Given the description of an element on the screen output the (x, y) to click on. 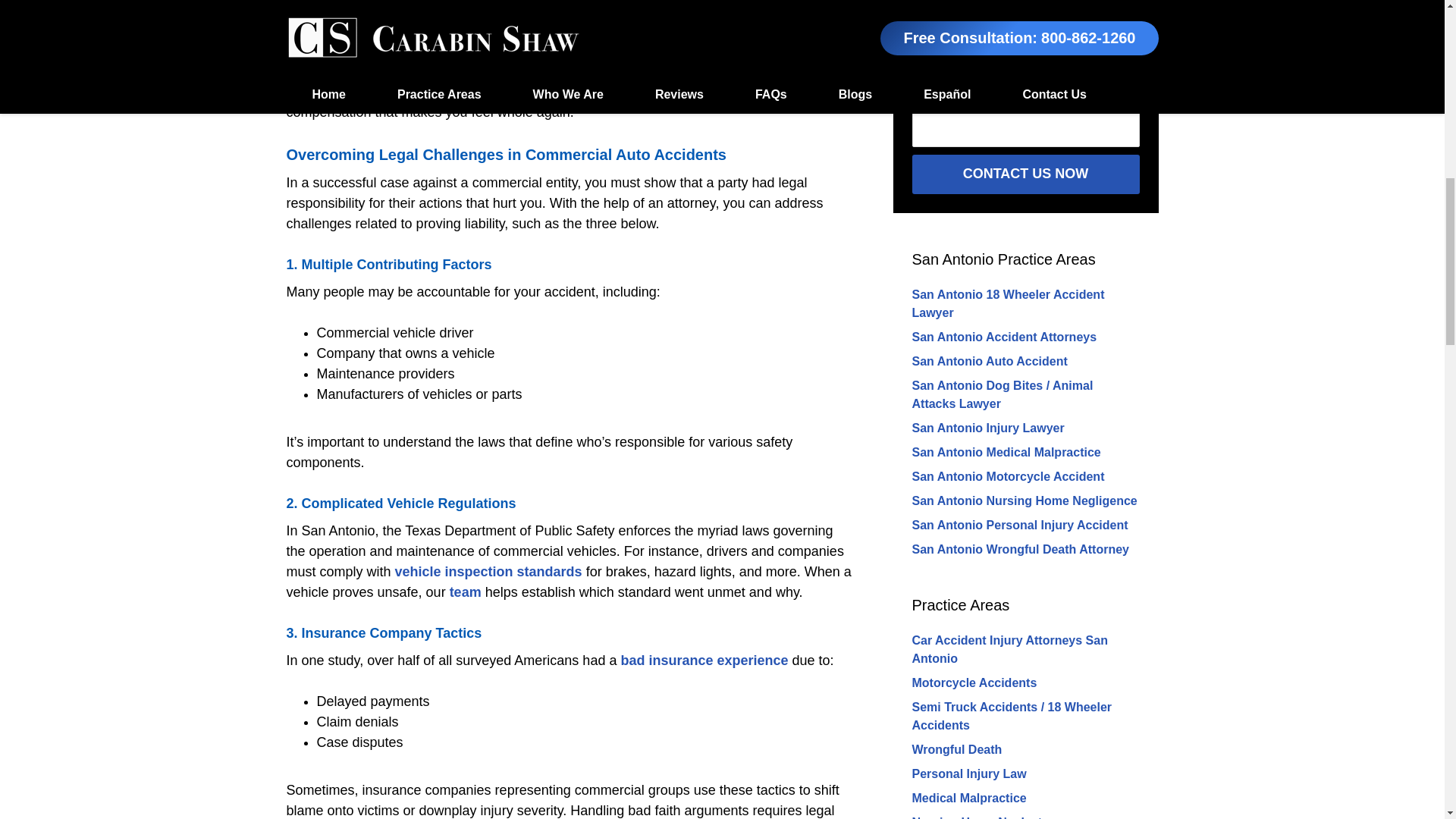
Carabin Shaw (406, 91)
CONTACT US NOW (1024, 174)
San Antonio Motorcycle Accident (1007, 476)
team (465, 591)
bad insurance experience (703, 660)
San Antonio Practice Areas (1002, 258)
San Antonio Medical Malpractice (1005, 451)
San Antonio Accident Attorneys (1003, 336)
San Antonio 18 Wheeler Accident Lawyer (1007, 303)
vehicle inspection standards (488, 571)
San Antonio Auto Accident (989, 360)
San Antonio Injury Lawyer (987, 427)
San Antonio Nursing Home Negligence (1024, 500)
